Given the description of an element on the screen output the (x, y) to click on. 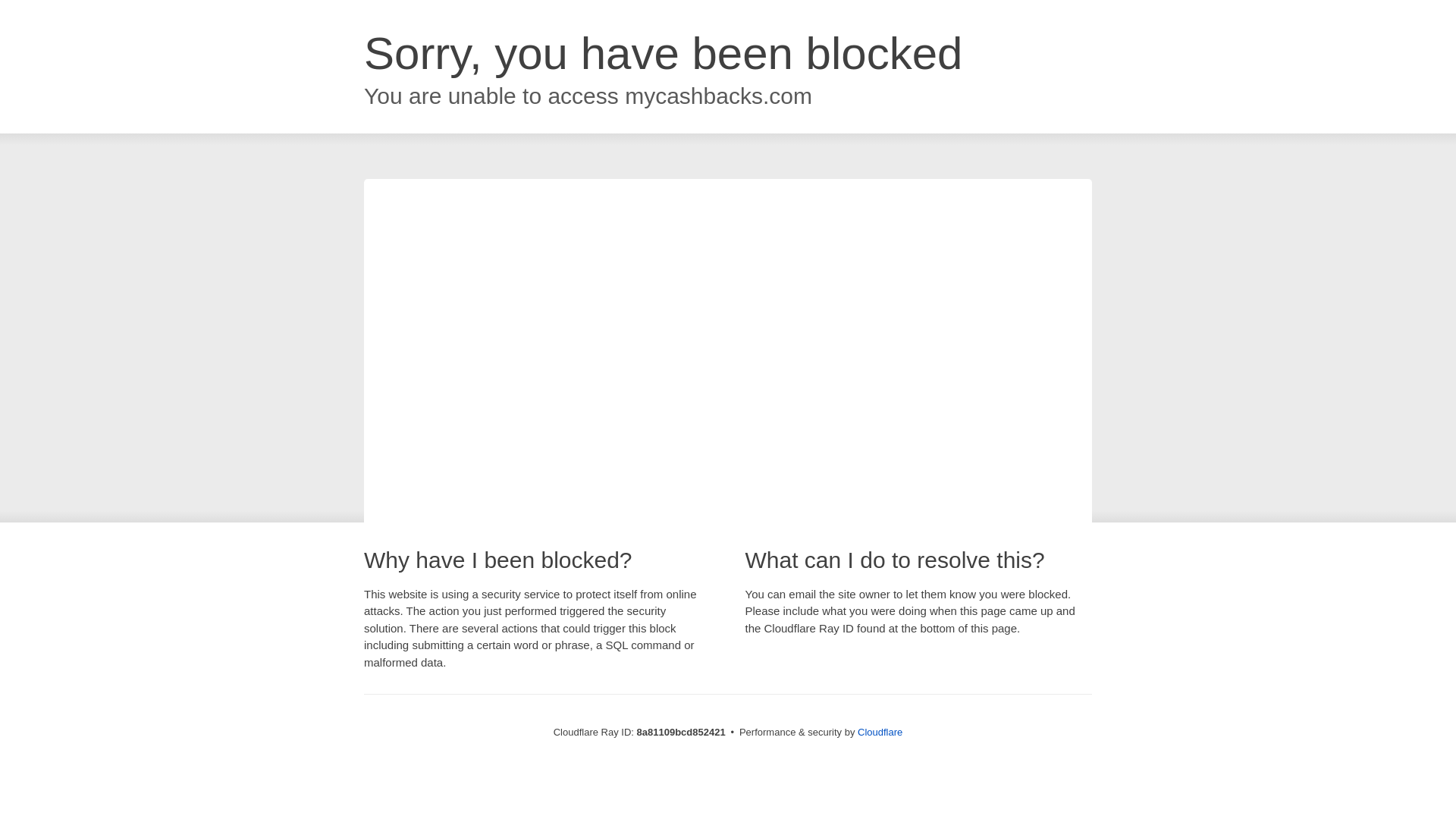
Cloudflare (879, 731)
